Given the description of an element on the screen output the (x, y) to click on. 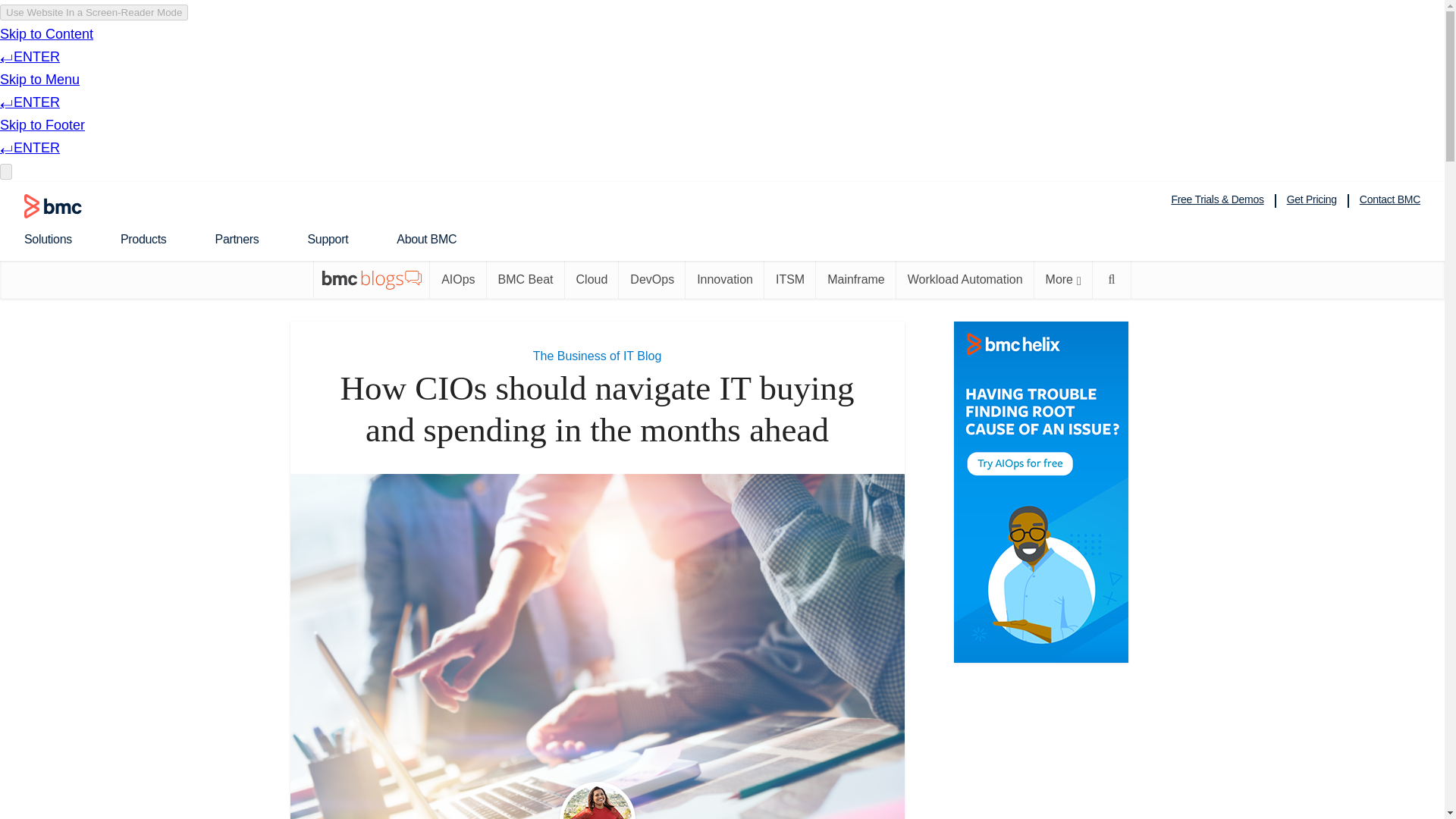
Products (152, 238)
Solutions (57, 238)
Partners (246, 238)
Get Pricing (1311, 199)
Contact BMC (1390, 199)
About BMC (435, 238)
Support (336, 238)
